Given the description of an element on the screen output the (x, y) to click on. 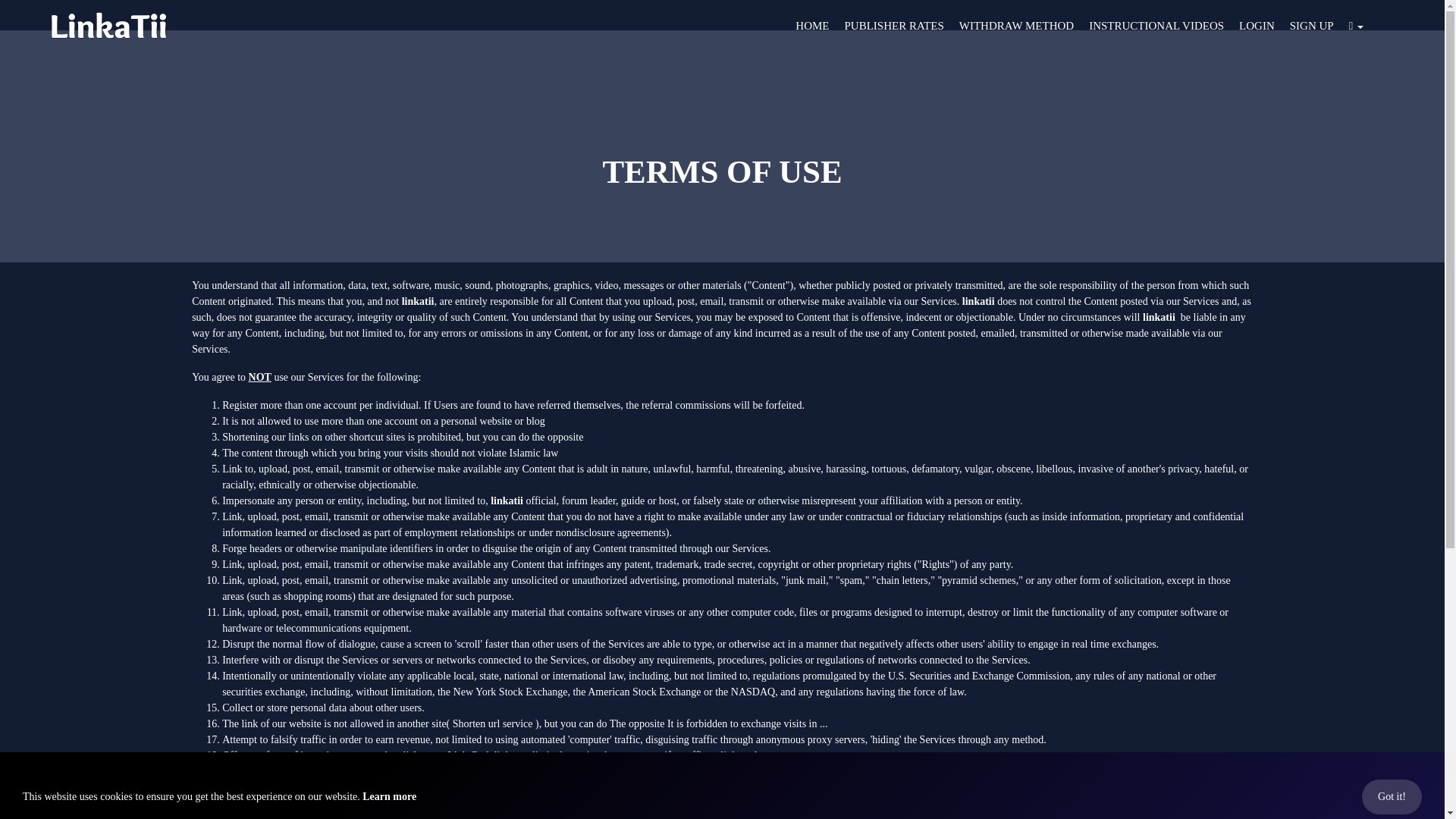
WITHDRAW METHOD (1016, 18)
SIGN UP (1311, 20)
LOGIN (1256, 19)
Got it! (1391, 796)
PUBLISHER RATES (892, 18)
HOME (811, 18)
INSTRUCTIONAL VIDEOS (1156, 18)
Learn more (389, 796)
